Given the description of an element on the screen output the (x, y) to click on. 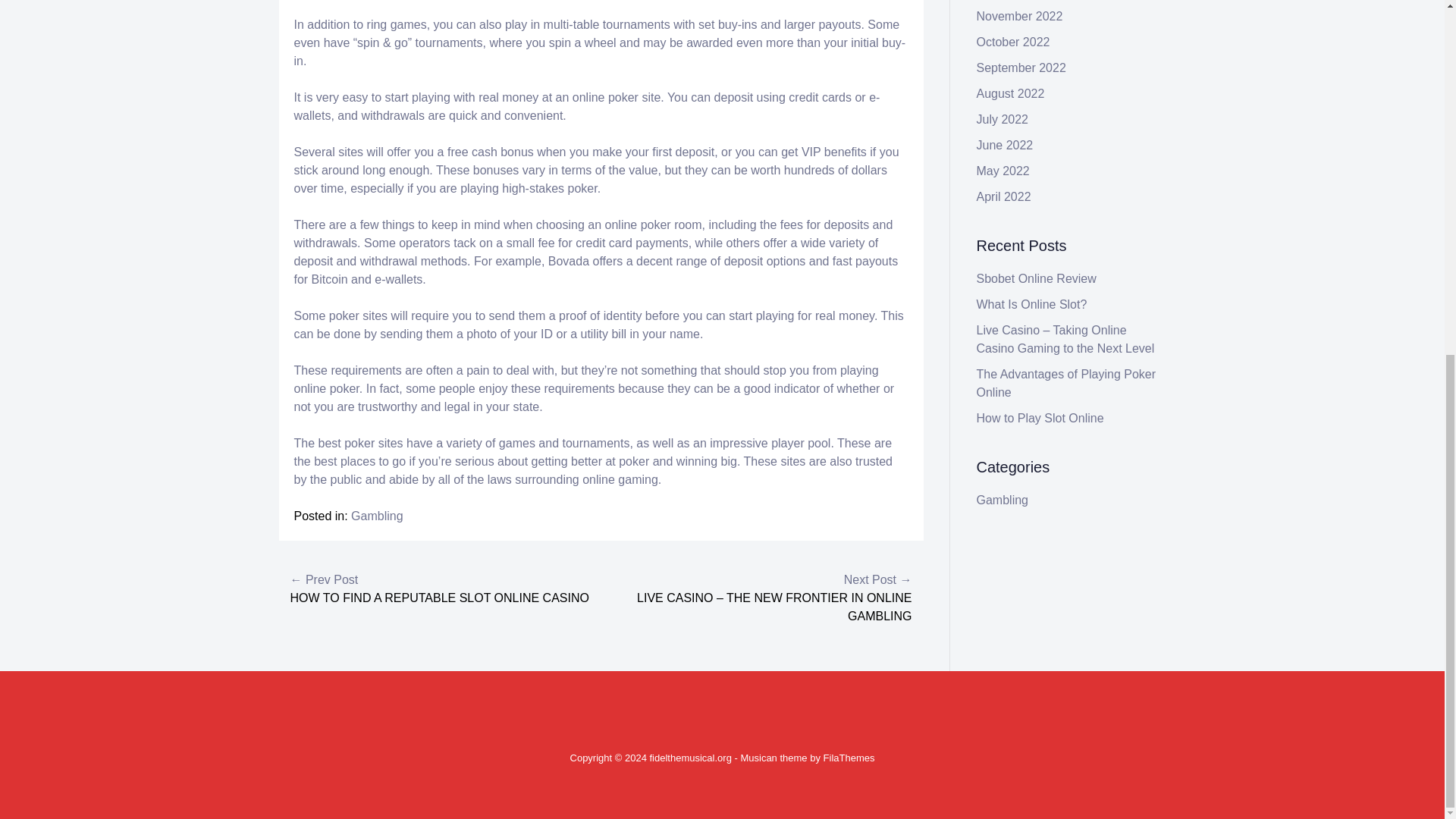
September 2022 (1020, 67)
April 2022 (1003, 196)
How to Play Slot Online (1039, 418)
August 2022 (1010, 92)
What Is Online Slot? (1031, 304)
The Advantages of Playing Poker Online (1066, 382)
June 2022 (1004, 144)
July 2022 (1002, 119)
November 2022 (1019, 15)
May 2022 (1002, 170)
Gambling (376, 515)
October 2022 (1012, 42)
Sbobet Online Review (1036, 278)
fidelthemusical.org (689, 757)
